Given the description of an element on the screen output the (x, y) to click on. 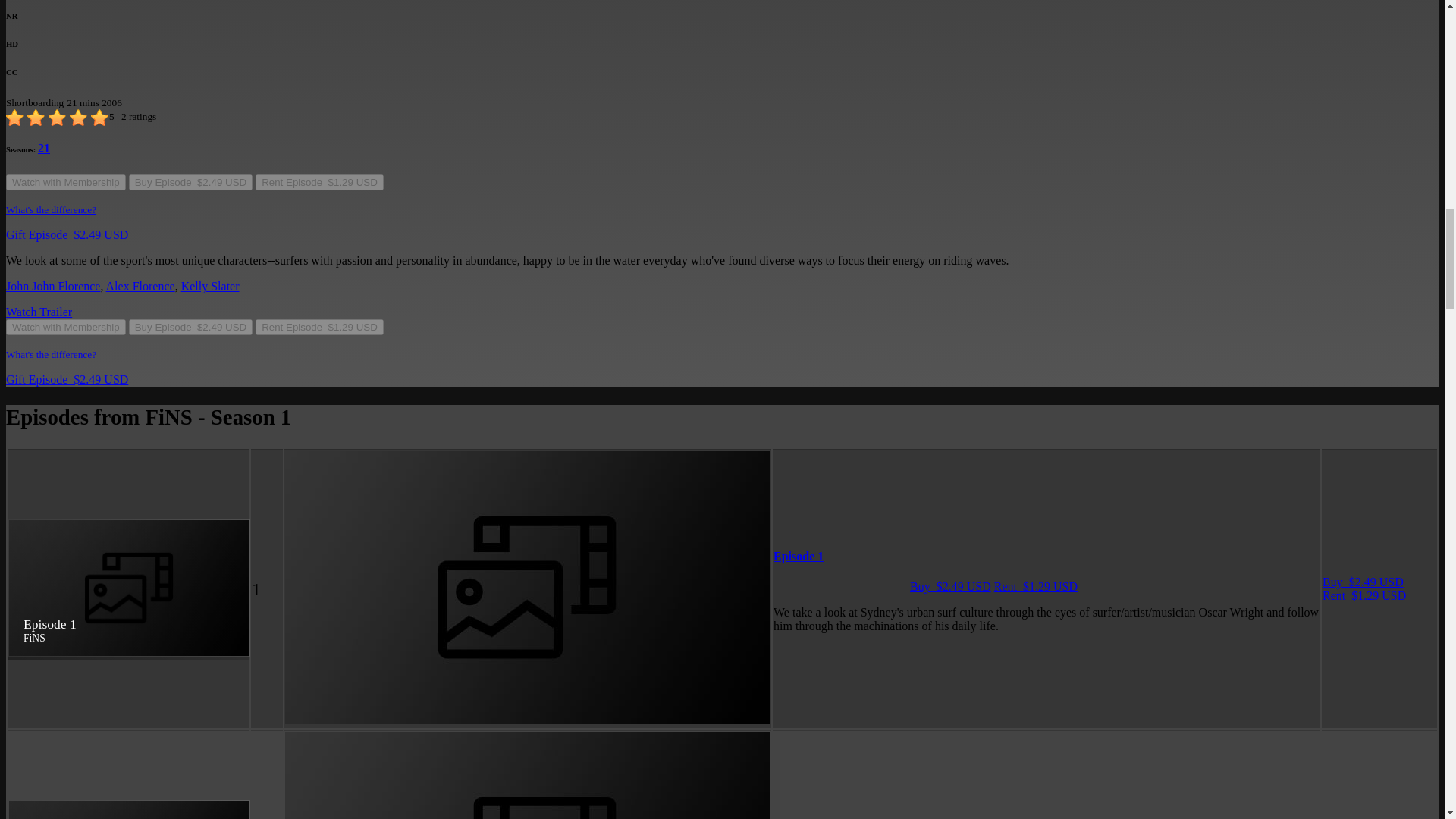
loved it (99, 117)
hated it (14, 117)
Watch with Membership (65, 182)
liked it (57, 117)
really like it (78, 117)
Episode  1 (798, 555)
didn't like it (36, 117)
